Given the description of an element on the screen output the (x, y) to click on. 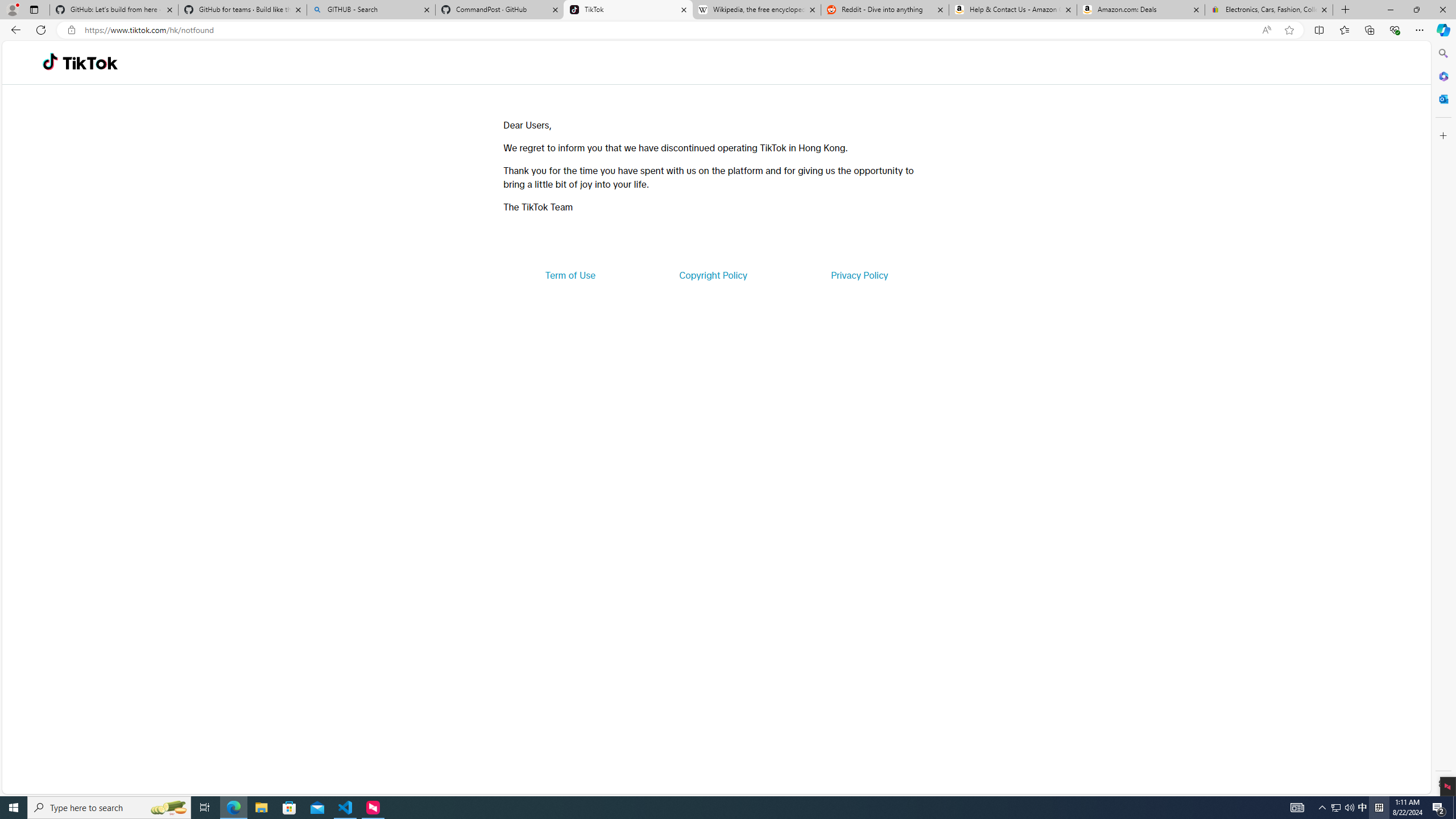
Privacy Policy (858, 274)
Copyright Policy (712, 274)
GITHUB - Search (370, 9)
